Given the description of an element on the screen output the (x, y) to click on. 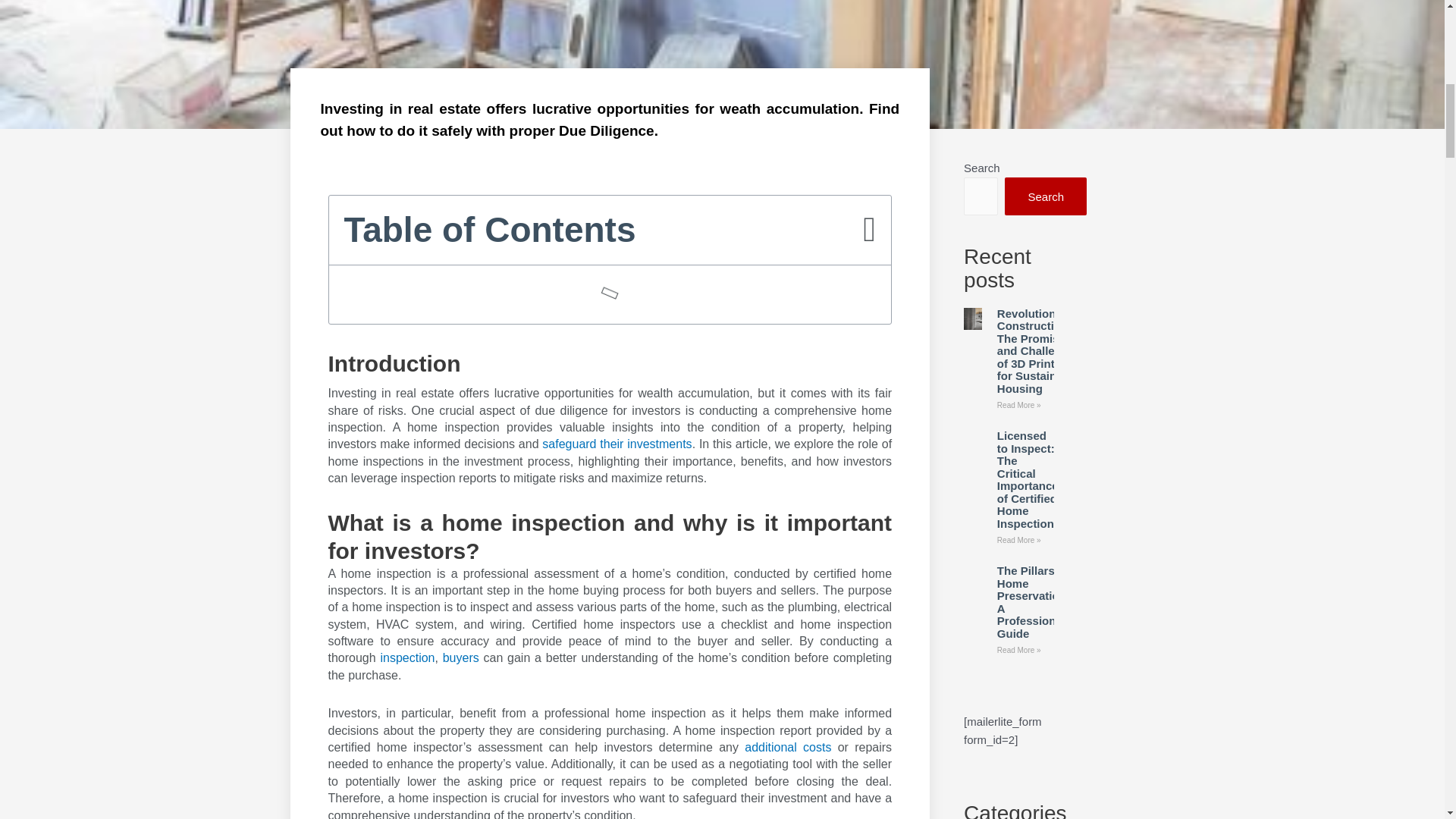
additional costs (787, 747)
buyers (460, 657)
4-Point (616, 443)
Services (406, 657)
buyers (460, 657)
Pricing (787, 747)
inspection (406, 657)
safeguard their investments (616, 443)
